Given the description of an element on the screen output the (x, y) to click on. 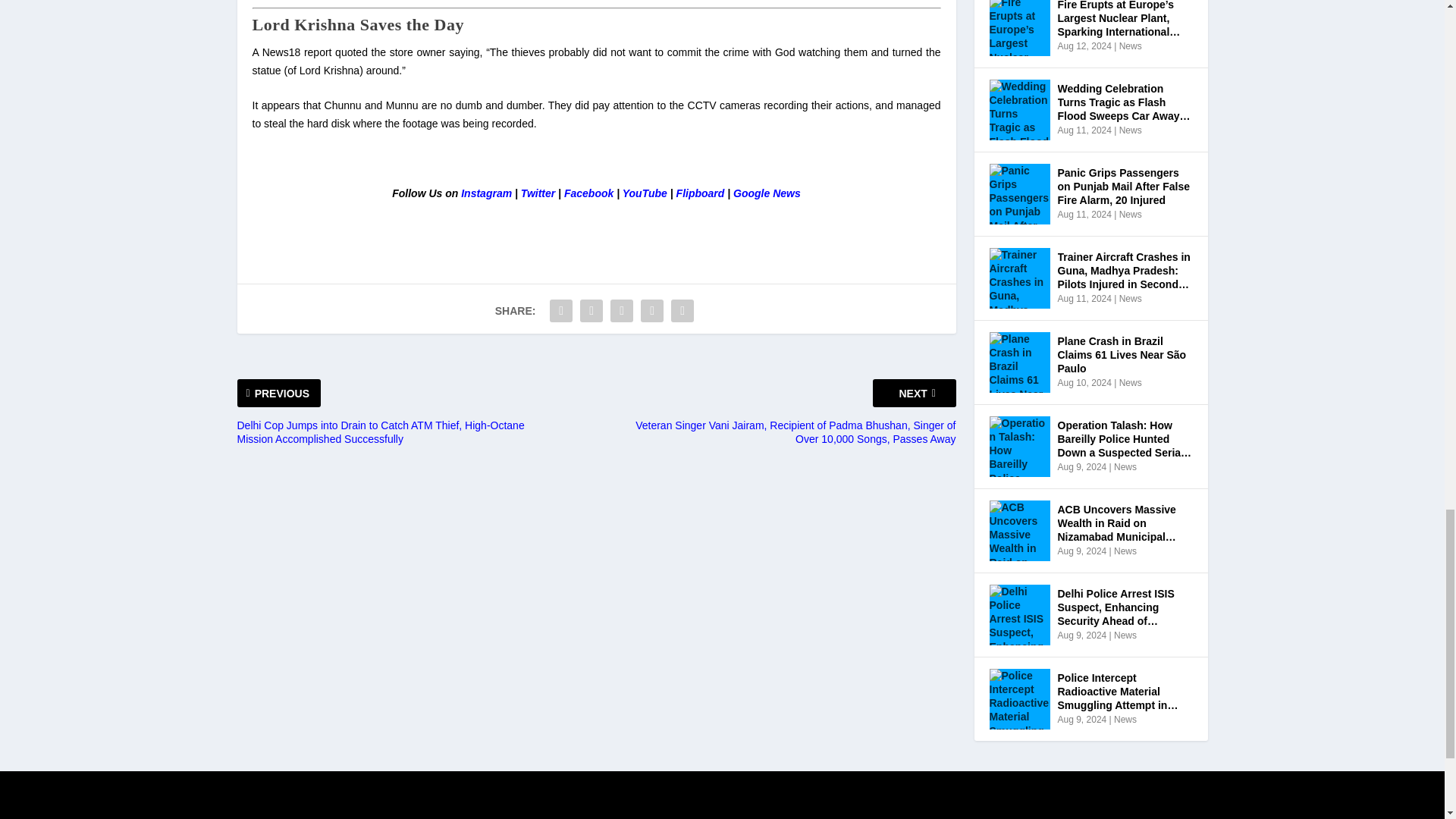
Google News (766, 193)
Facebook (588, 193)
Instagram (486, 193)
Twitter (537, 193)
Flipboard (701, 193)
